Given the description of an element on the screen output the (x, y) to click on. 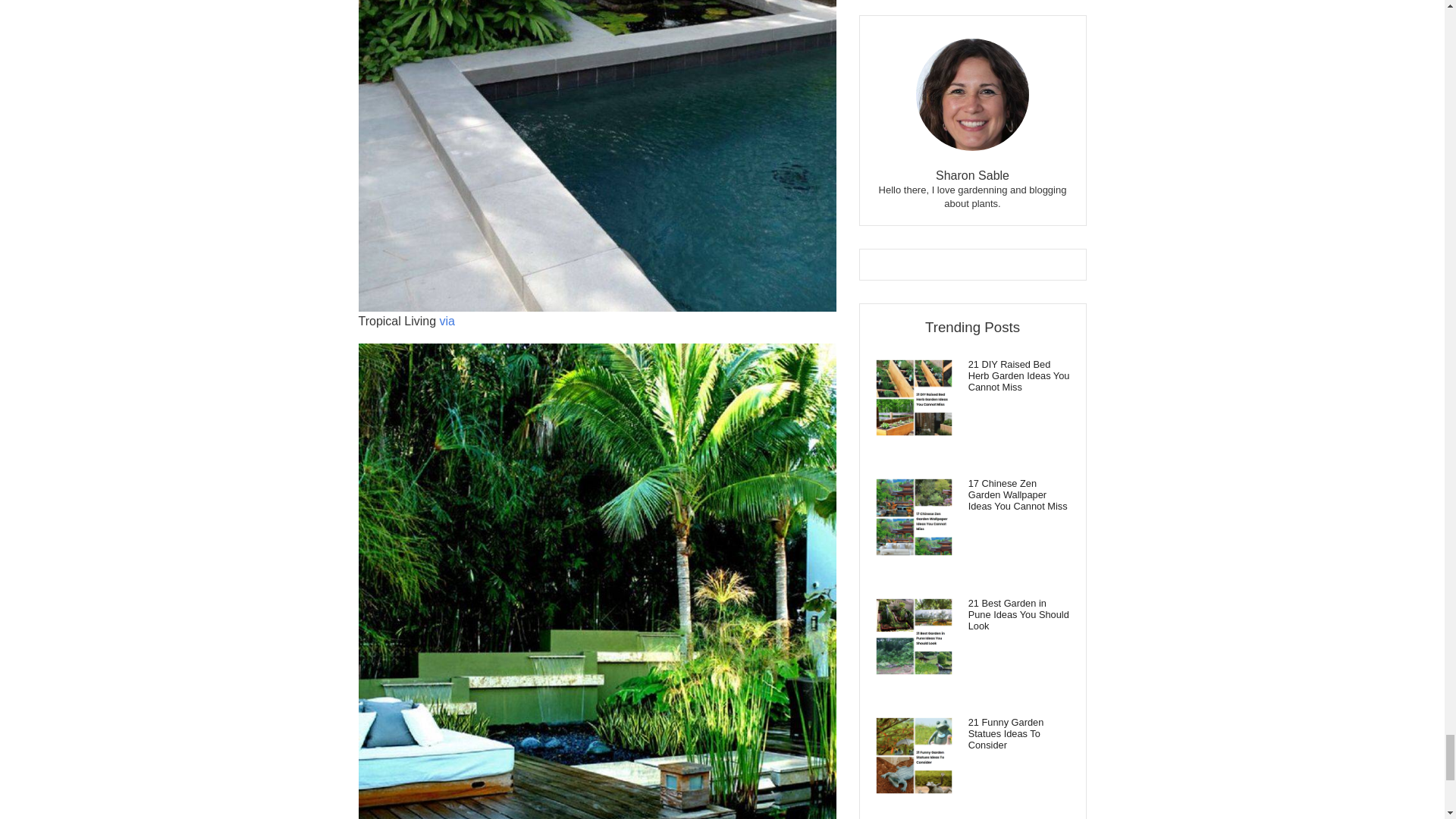
via (446, 320)
